Given the description of an element on the screen output the (x, y) to click on. 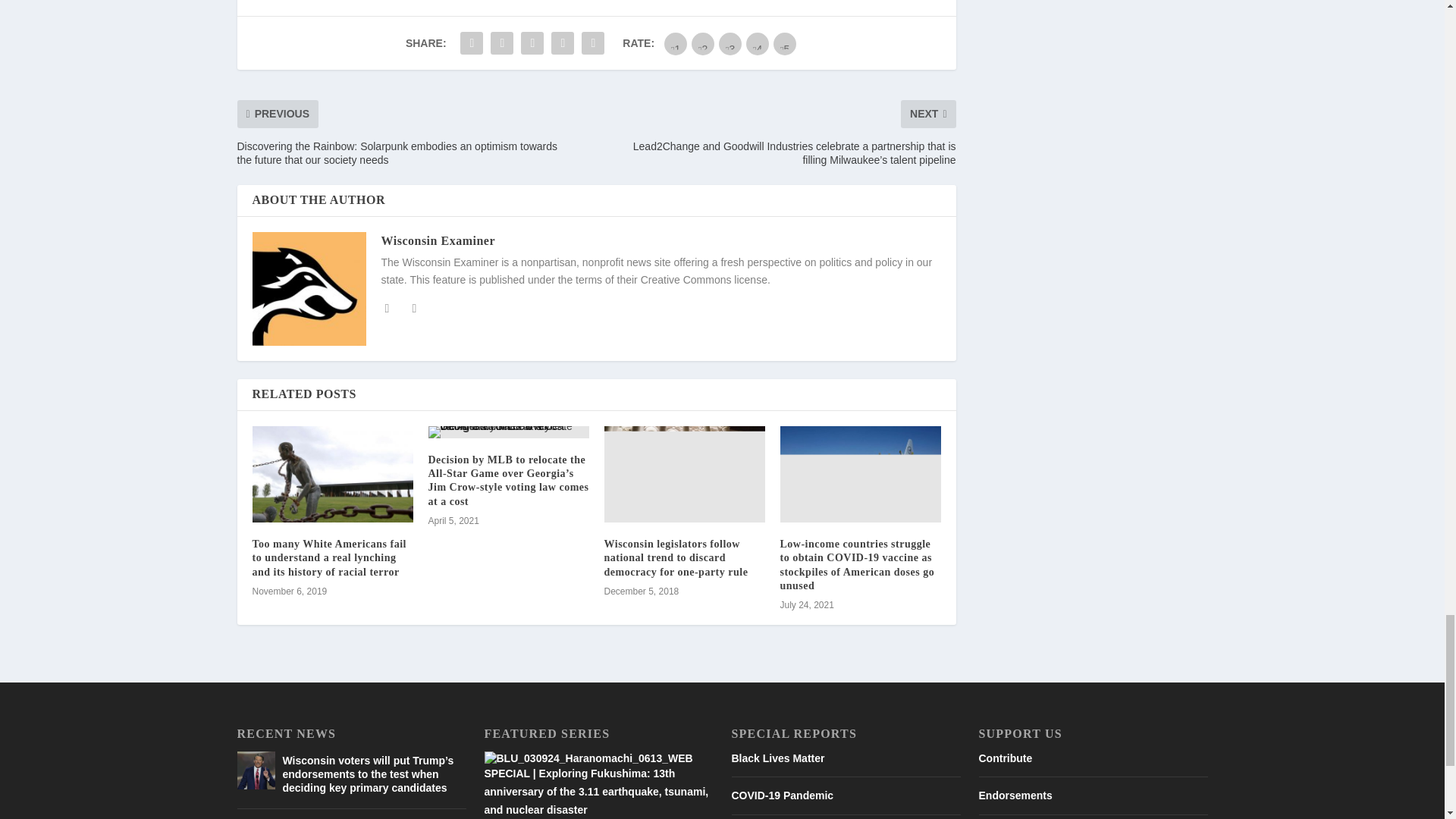
gorgeous (784, 43)
regular (730, 43)
bad (675, 43)
poor (702, 43)
good (756, 43)
